Given the description of an element on the screen output the (x, y) to click on. 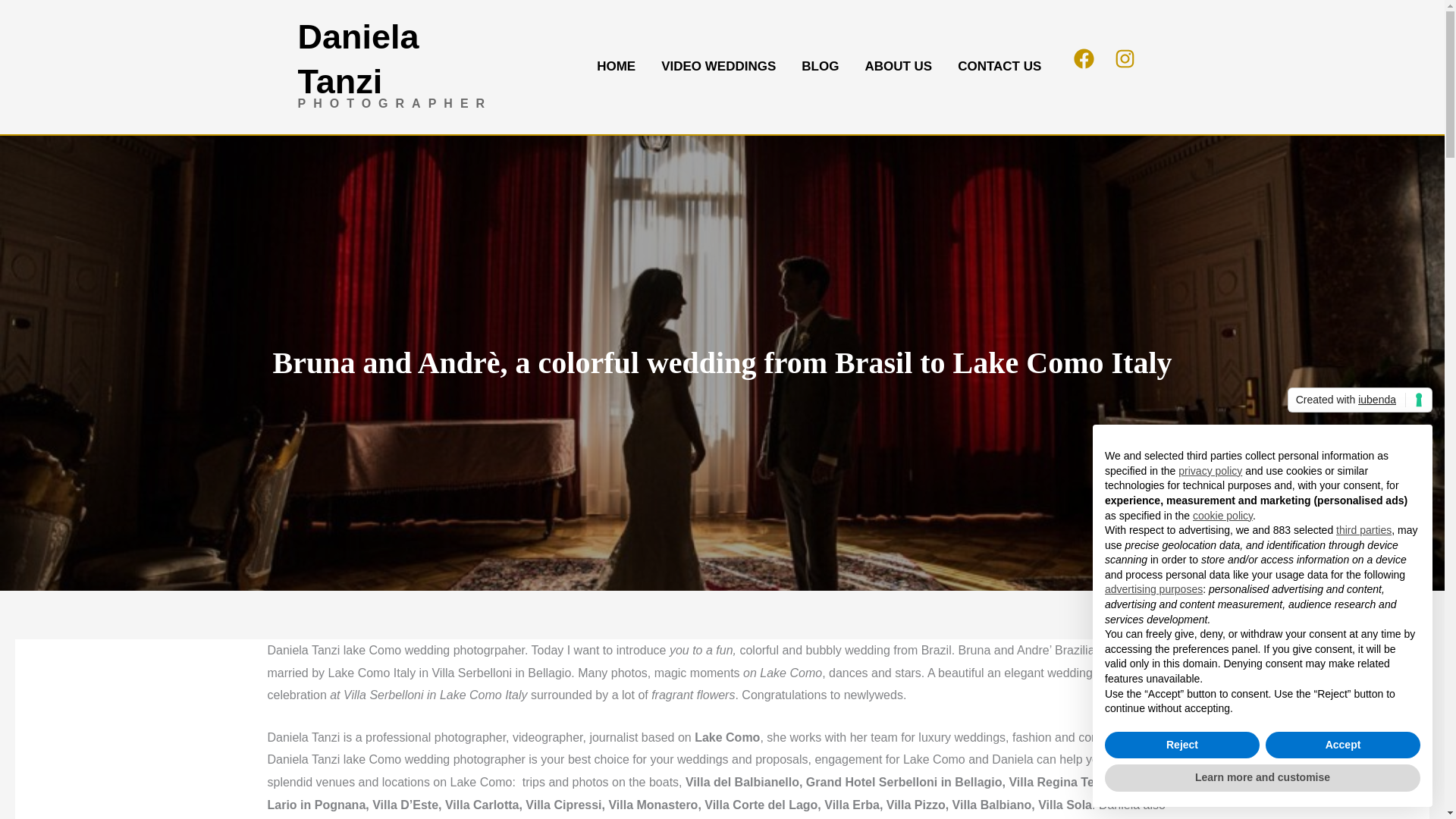
Instagram (1124, 66)
iubenda - Cookie Policy and Cookie Compliance Management (1359, 400)
BLOG (820, 67)
HOME (615, 67)
VIDEO WEDDINGS (718, 67)
Daniela Tanzi (358, 58)
ABOUT US (898, 67)
Facebook (1083, 66)
CONTACT US (999, 67)
